Given the description of an element on the screen output the (x, y) to click on. 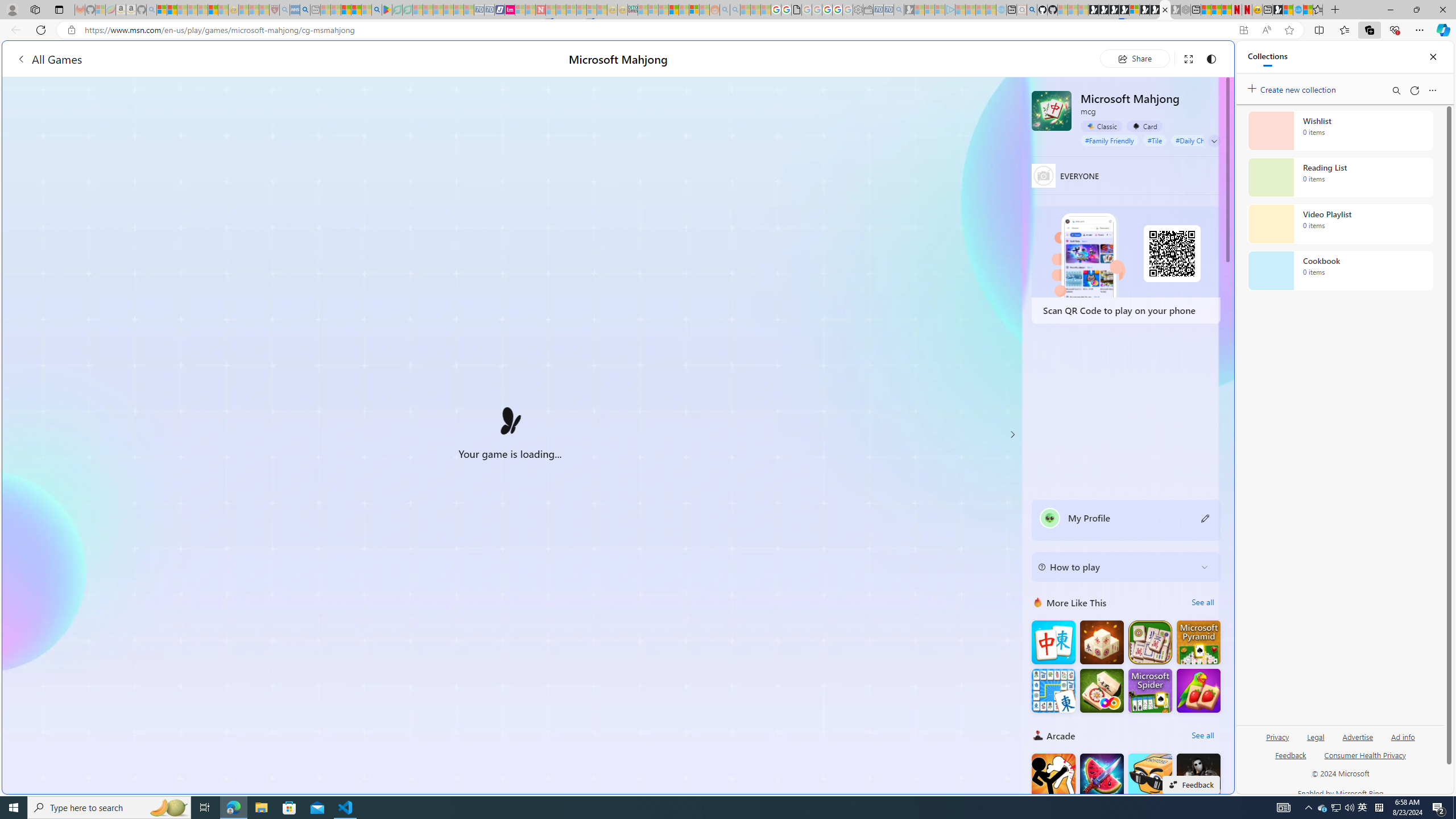
Daily Mahjong (1149, 642)
Expert Portfolios (673, 9)
Change to dark mode (1211, 58)
See all (1202, 735)
Class: expand-arrow neutral (1214, 141)
